Given the description of an element on the screen output the (x, y) to click on. 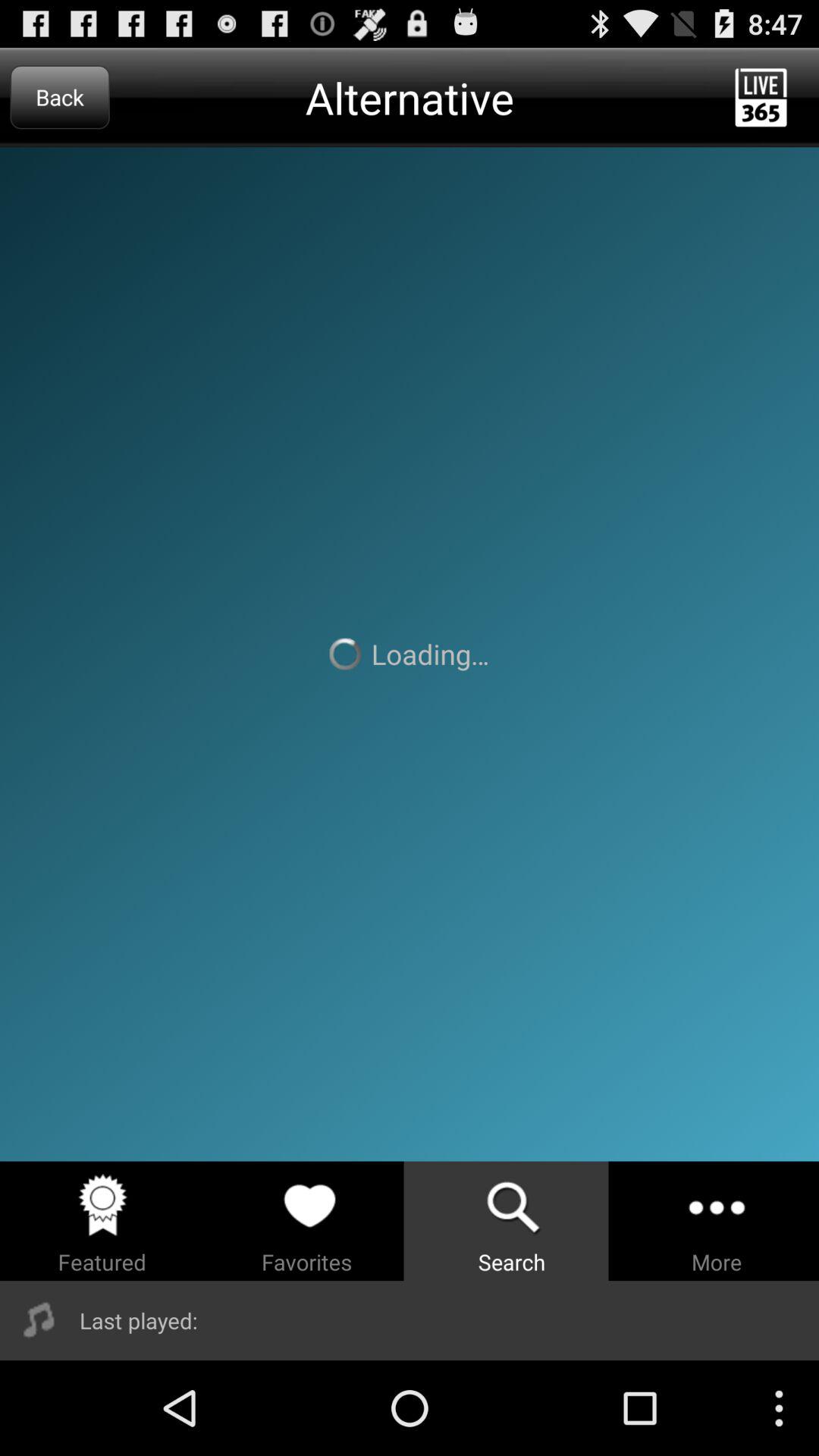
jump to the back item (59, 97)
